Given the description of an element on the screen output the (x, y) to click on. 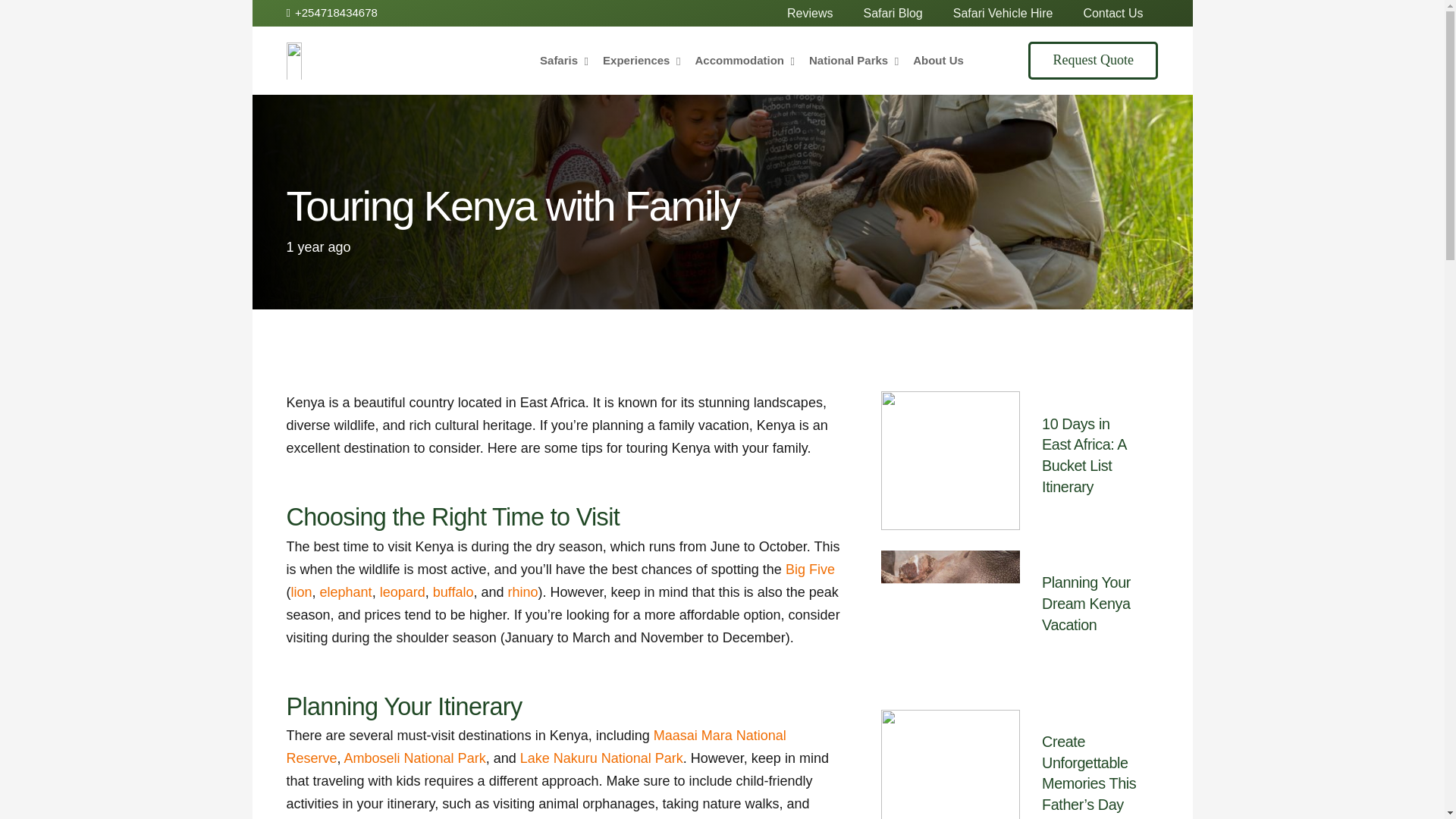
Experiences (641, 60)
Reviews (809, 13)
Accommodation (744, 60)
Safari Blog (751, 60)
Safari Vehicle Hire (892, 13)
Contact Us (1002, 13)
Safaris (1112, 13)
